Given the description of an element on the screen output the (x, y) to click on. 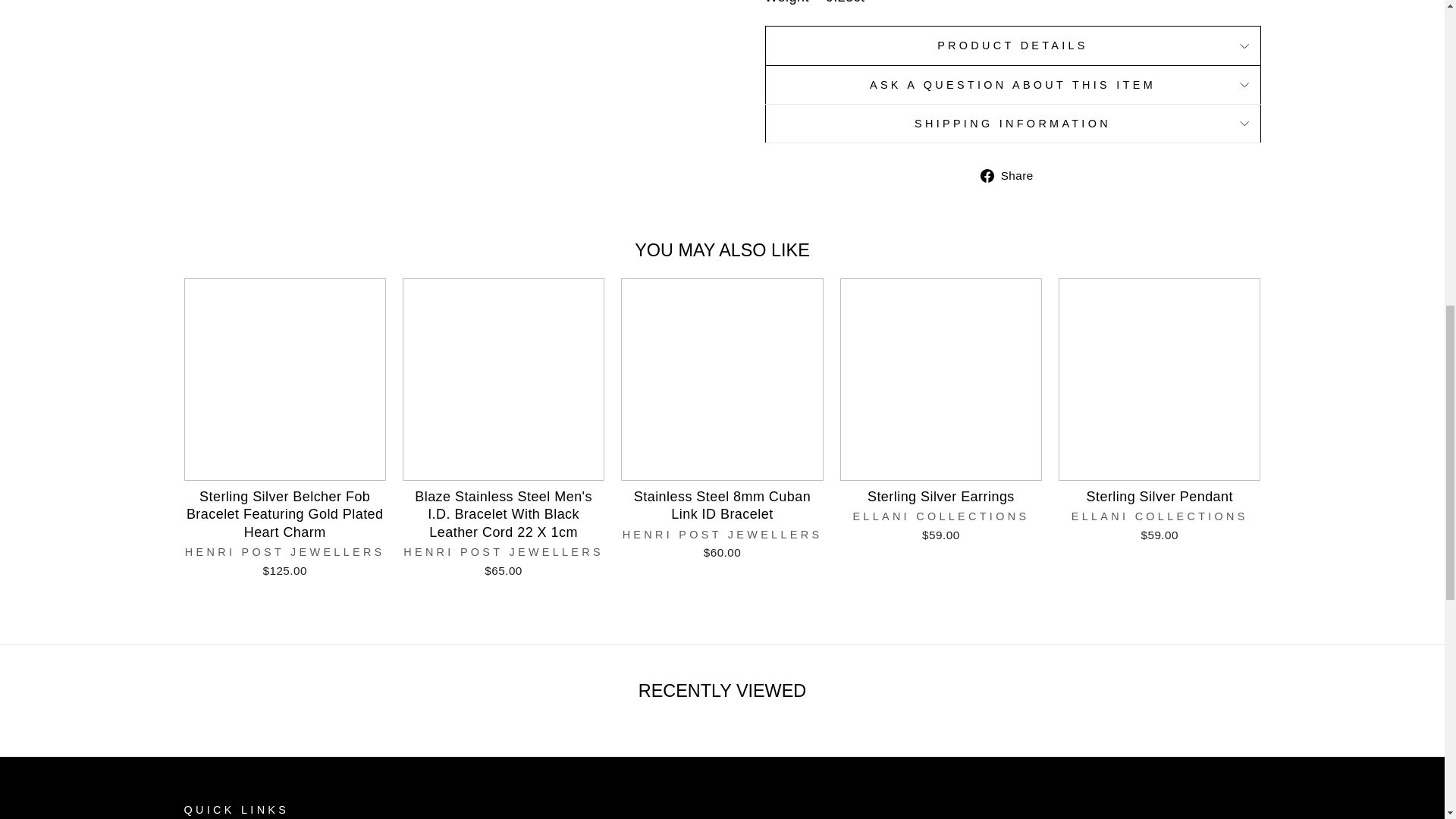
Share on Facebook (1012, 175)
